Given the description of an element on the screen output the (x, y) to click on. 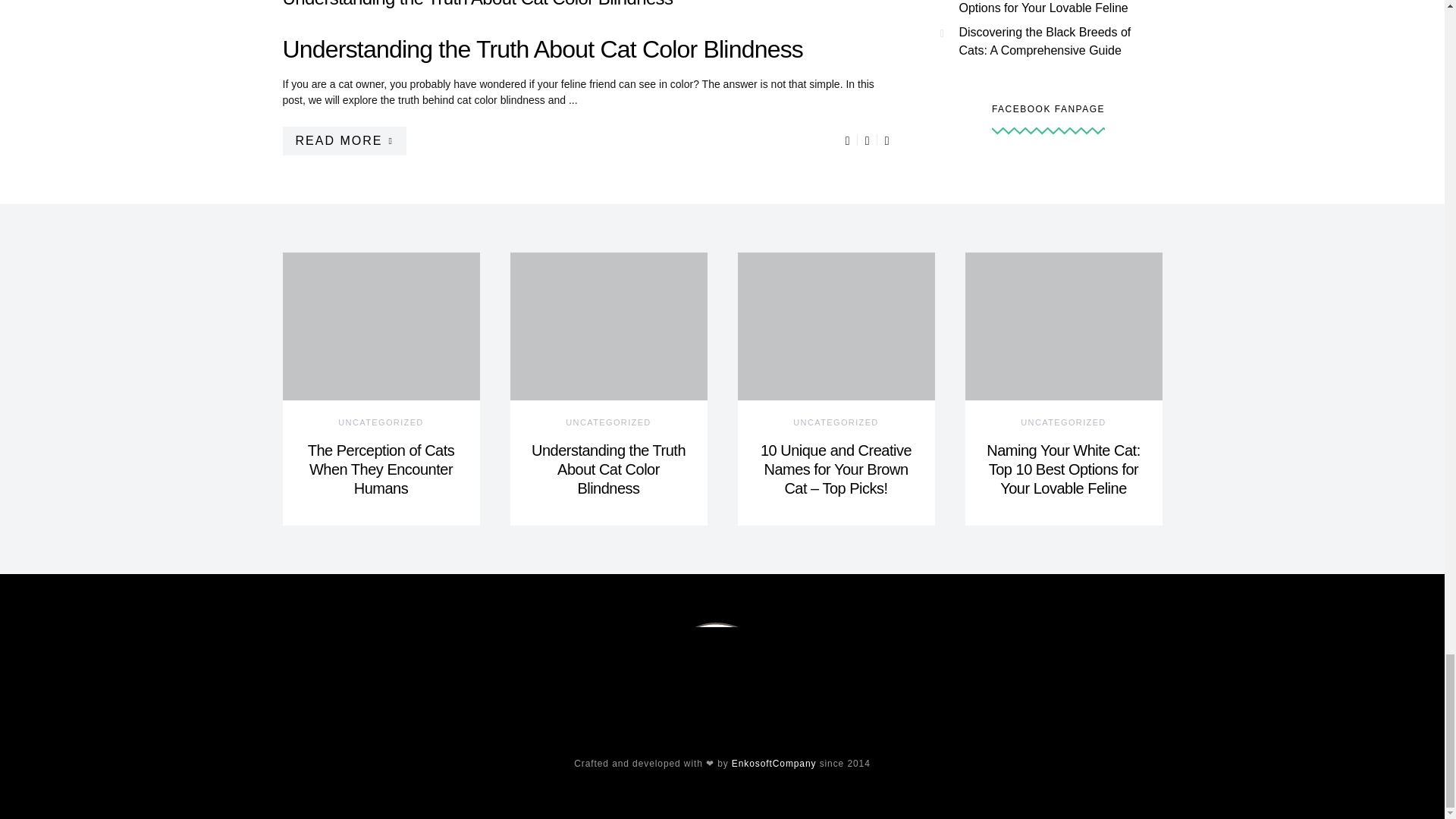
The Perception of Cats When They Encounter Humans (380, 469)
Understanding the Truth About Cat Color Blindness (608, 469)
